Given the description of an element on the screen output the (x, y) to click on. 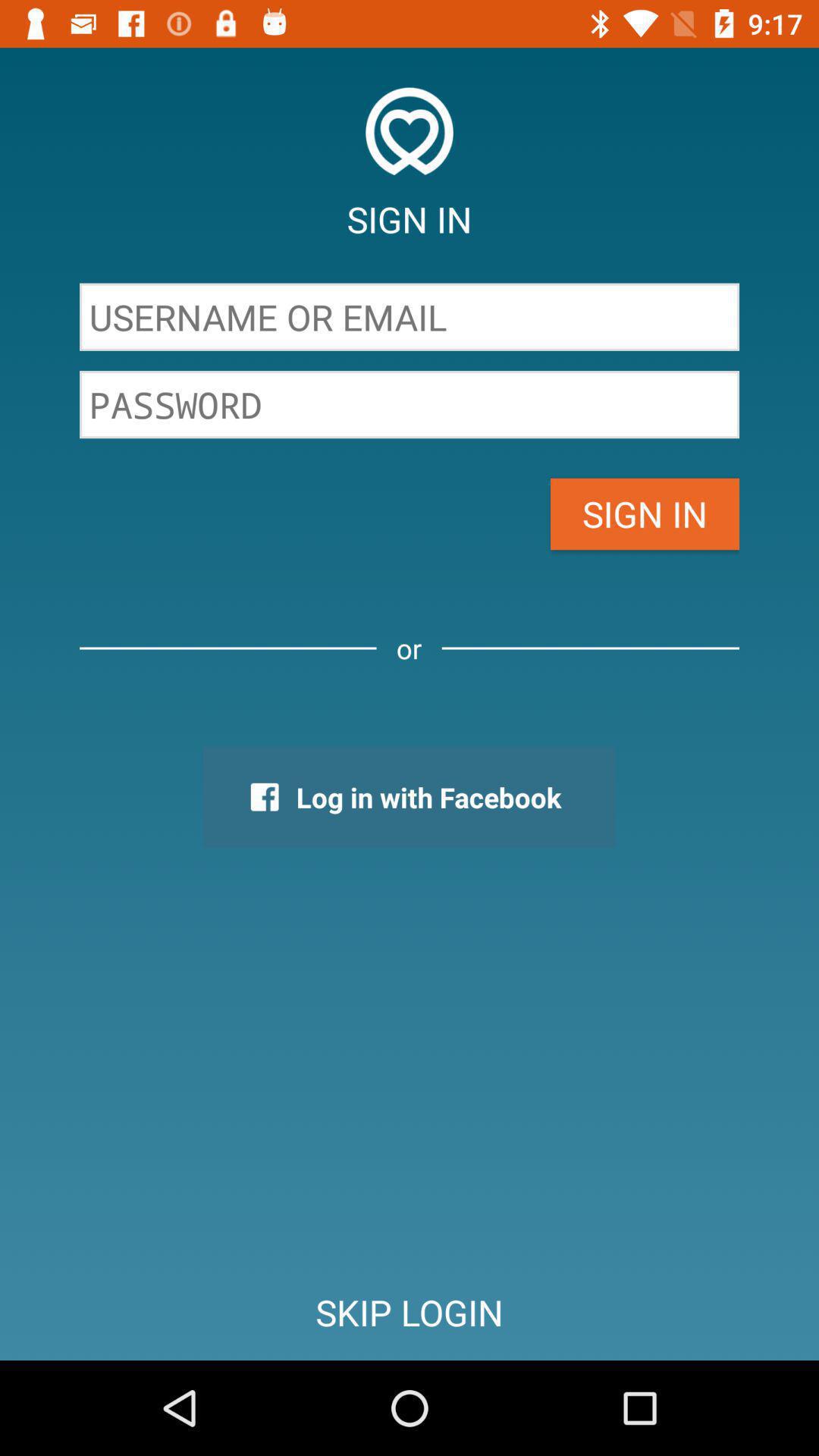
choose item below sign in (409, 316)
